Given the description of an element on the screen output the (x, y) to click on. 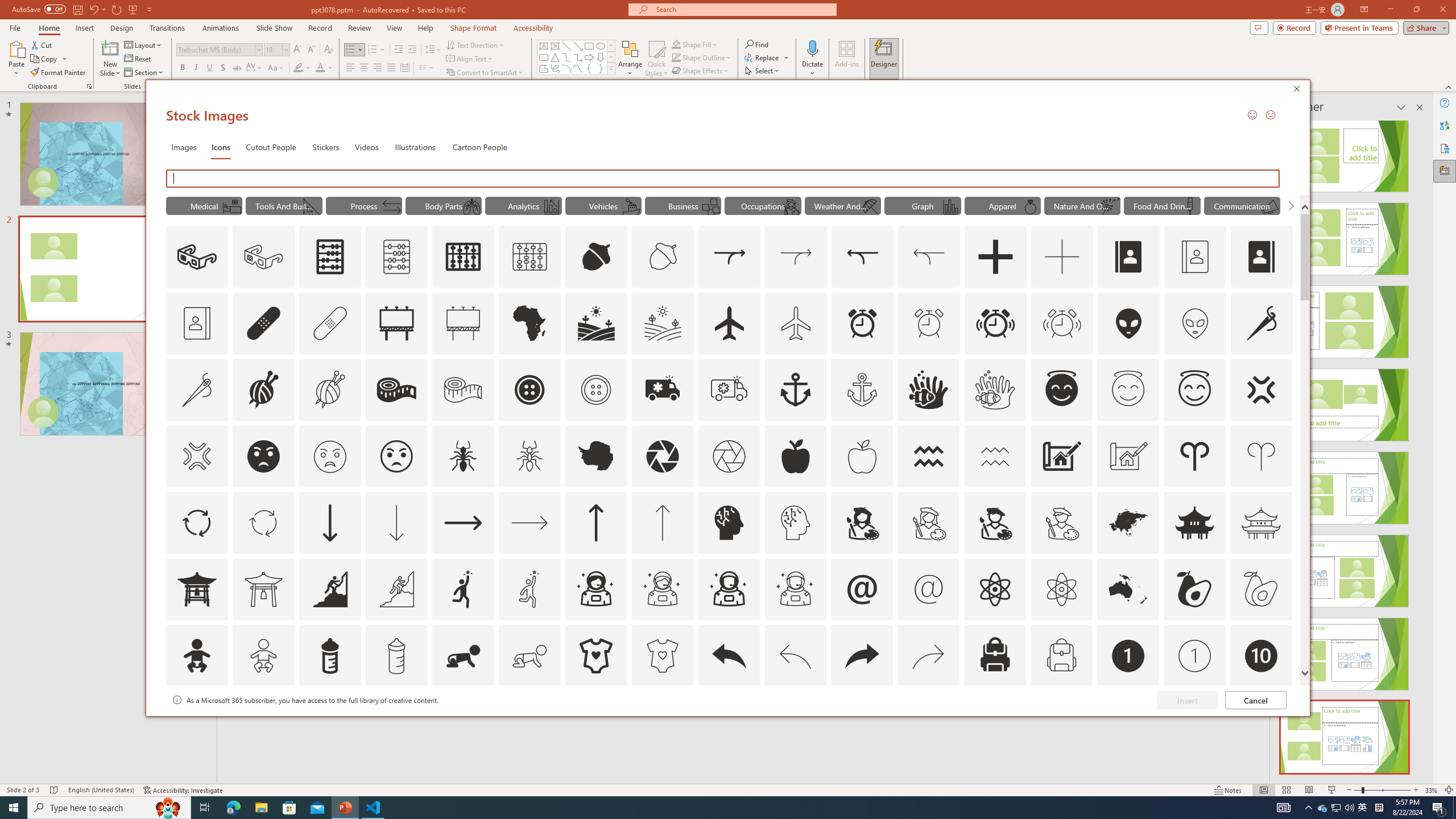
AutomationID: Icons_Architecture (1061, 455)
AutomationID: Icons_Africa (529, 323)
AutomationID: Icons_Badge3_M (462, 721)
AutomationID: Icons_Asia (1128, 522)
AutomationID: Icons_Badge5_M (729, 721)
